Given the description of an element on the screen output the (x, y) to click on. 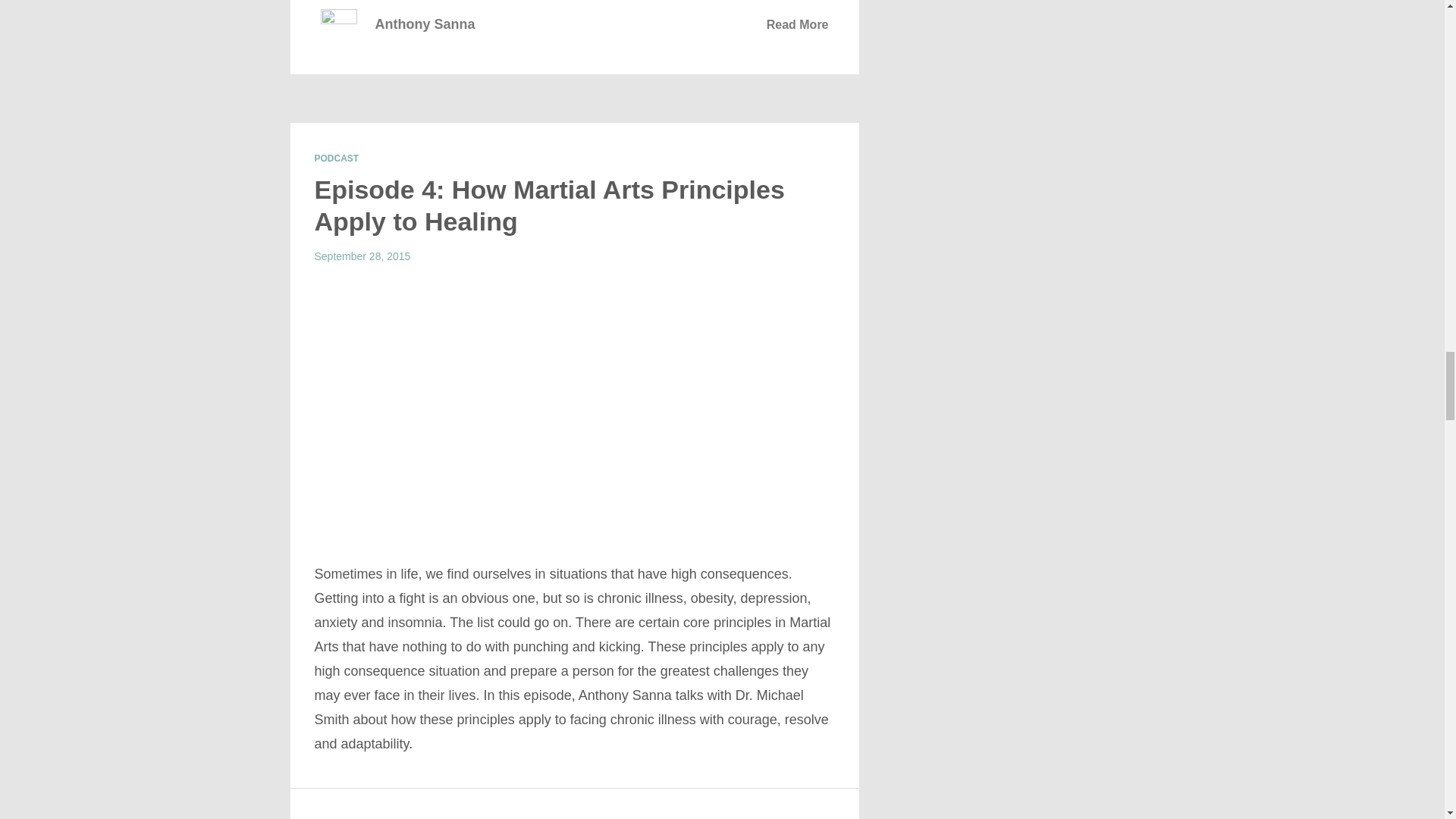
Read More (797, 24)
